Given the description of an element on the screen output the (x, y) to click on. 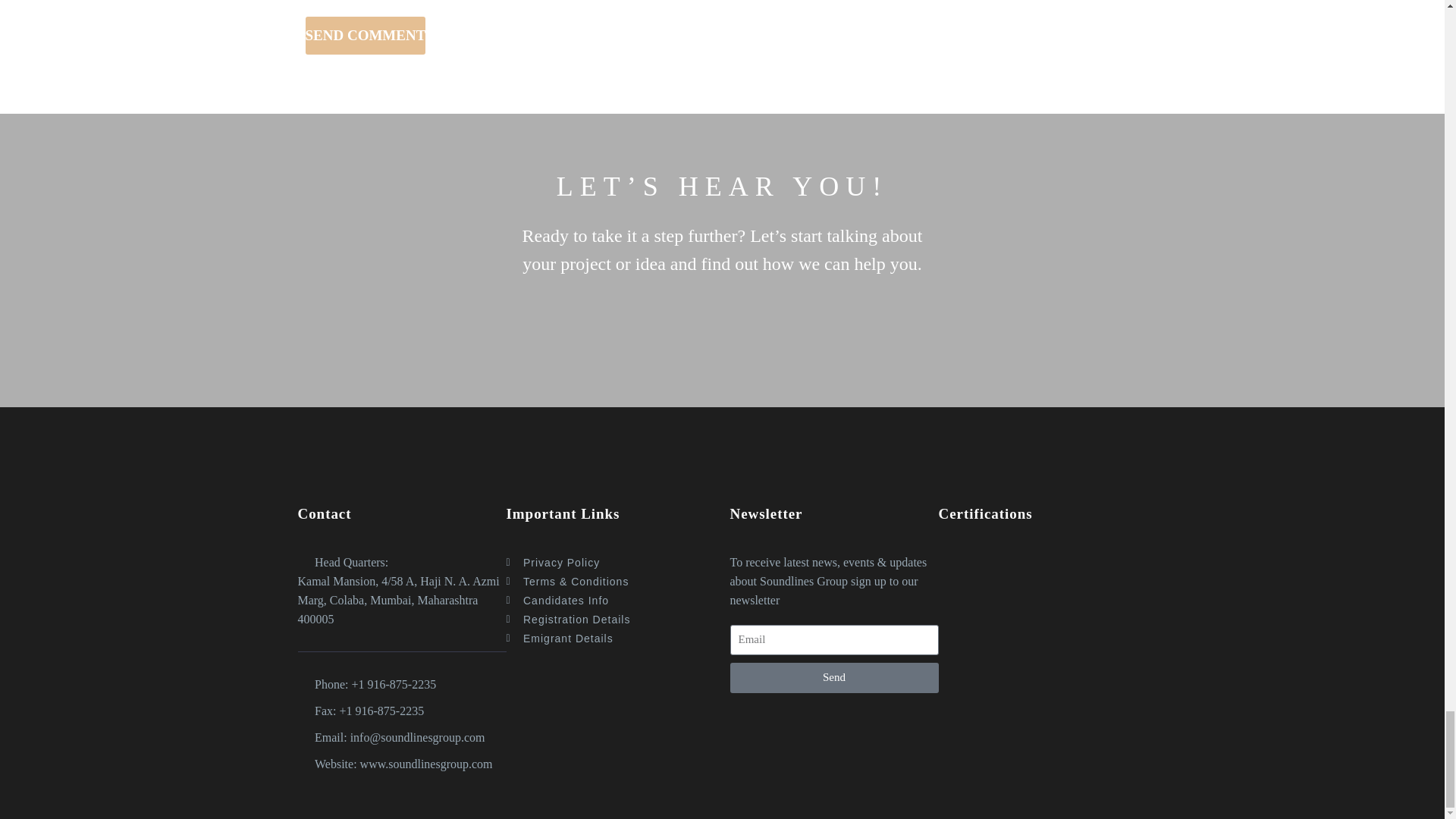
Registration Details (610, 619)
SEND COMMENT (364, 35)
Candidates Info (610, 600)
Privacy Policy (610, 562)
Website: www.soundlinesgroup.com (401, 763)
